Given the description of an element on the screen output the (x, y) to click on. 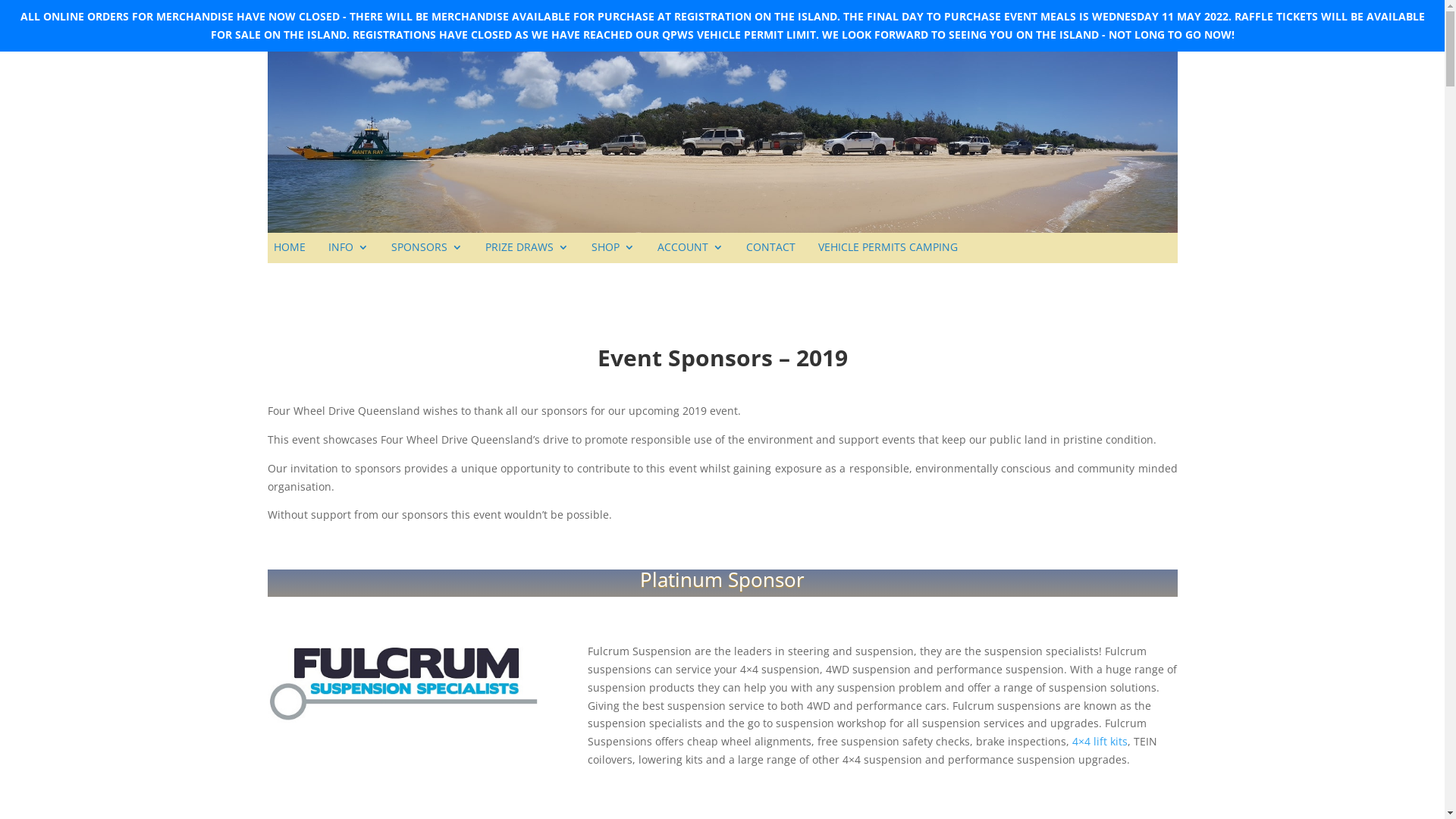
VEHICLE PERMITS CAMPING Element type: text (887, 256)
SPONSORS Element type: text (426, 256)
SHOP Element type: text (612, 256)
HOME Element type: text (288, 256)
ACCOUNT Element type: text (689, 256)
Fraser-Island-Banner-Header Element type: hover (721, 141)
CONTACT Element type: text (770, 256)
PRIZE DRAWS Element type: text (526, 256)
INFO Element type: text (347, 256)
